Given the description of an element on the screen output the (x, y) to click on. 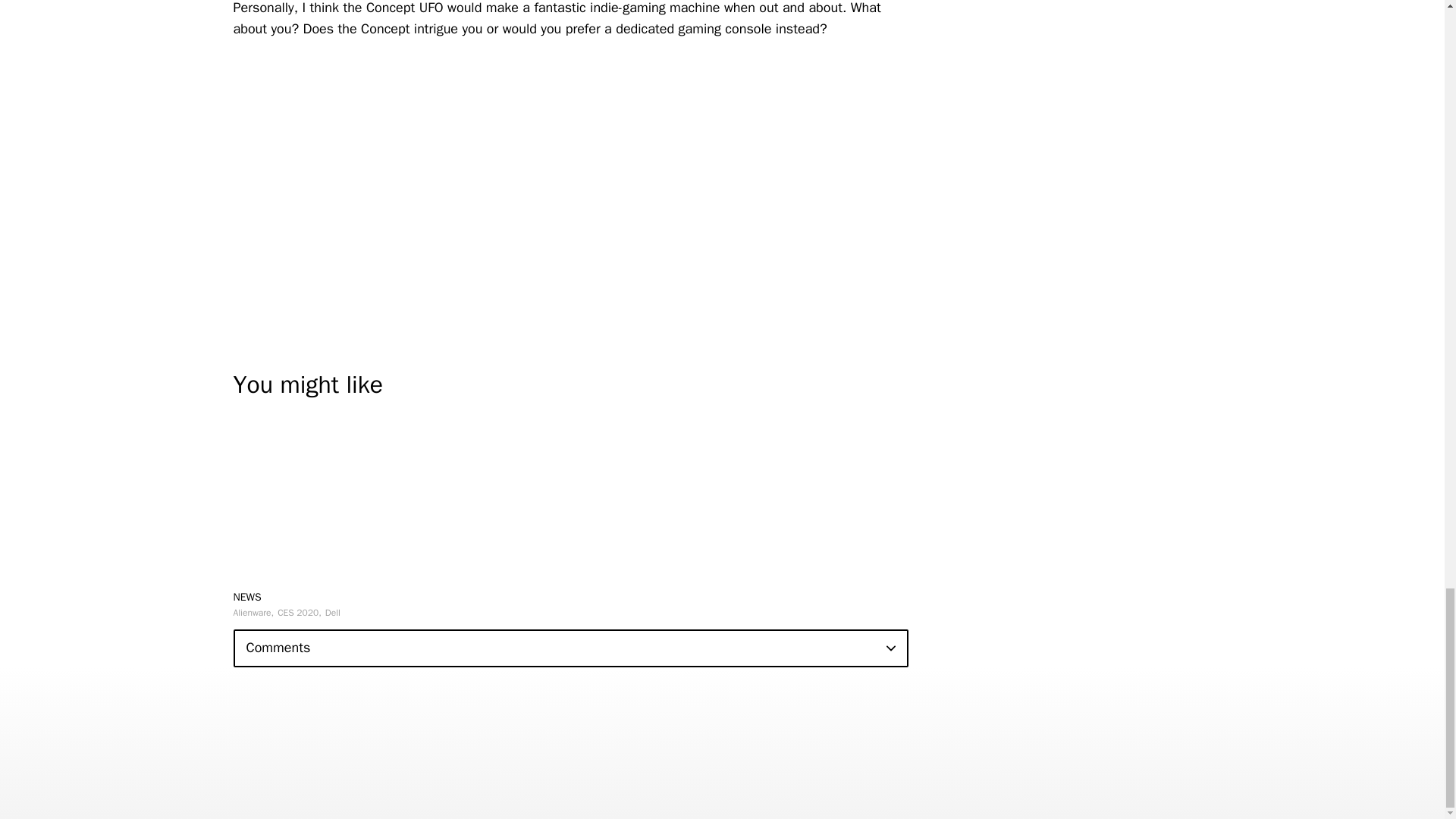
Comments (570, 648)
CES 2020 (299, 612)
NEWS (247, 596)
Alienware (253, 612)
Dell (332, 612)
